Given the description of an element on the screen output the (x, y) to click on. 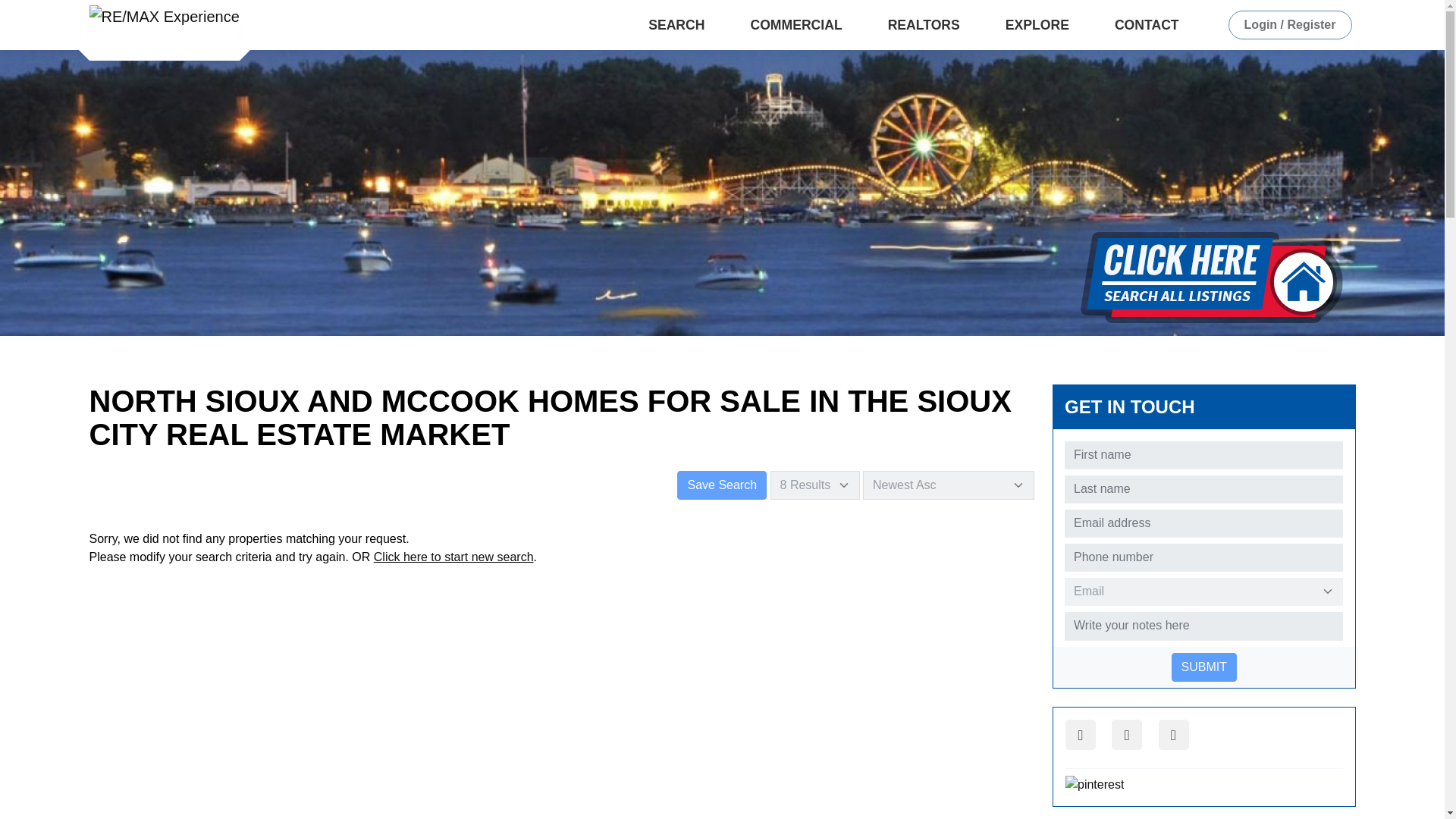
CONTACT (1150, 24)
Sort By (948, 484)
Page Size (815, 484)
Click here to start new search (454, 556)
search all properties (1211, 277)
SUBMIT (1204, 666)
pinterest (1094, 784)
REALTORS (928, 24)
EXPLORE (1041, 24)
Save Search (722, 484)
